Given the description of an element on the screen output the (x, y) to click on. 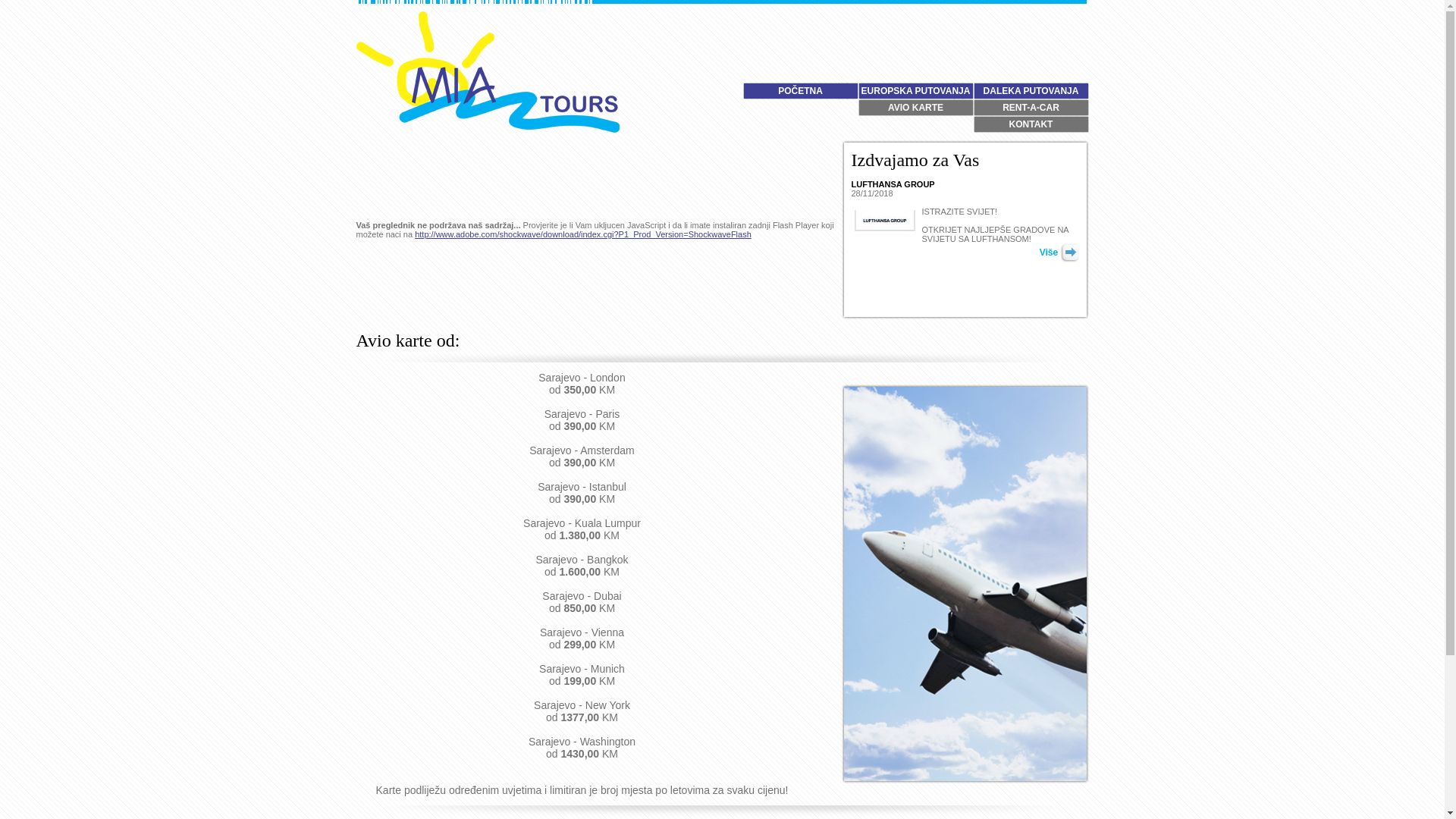
EUROPSKA PUTOVANJA Element type: text (915, 90)
AVIO KARTE Element type: text (915, 107)
KONTAKT Element type: text (1030, 124)
DALEKA PUTOVANJA Element type: text (1030, 90)
RENT-A-CAR Element type: text (1030, 107)
